Given the description of an element on the screen output the (x, y) to click on. 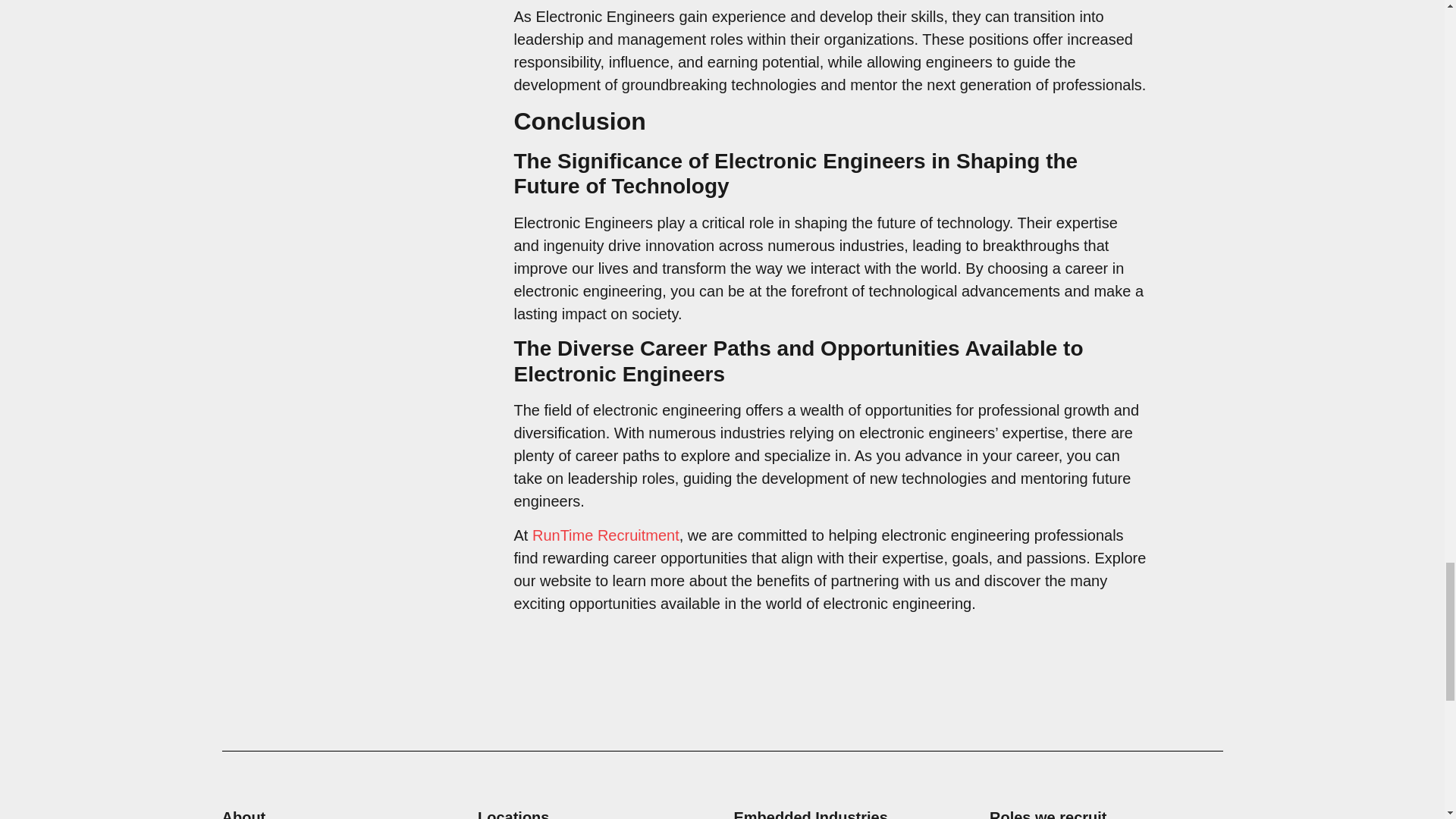
RunTime Recruitment (605, 535)
